Given the description of an element on the screen output the (x, y) to click on. 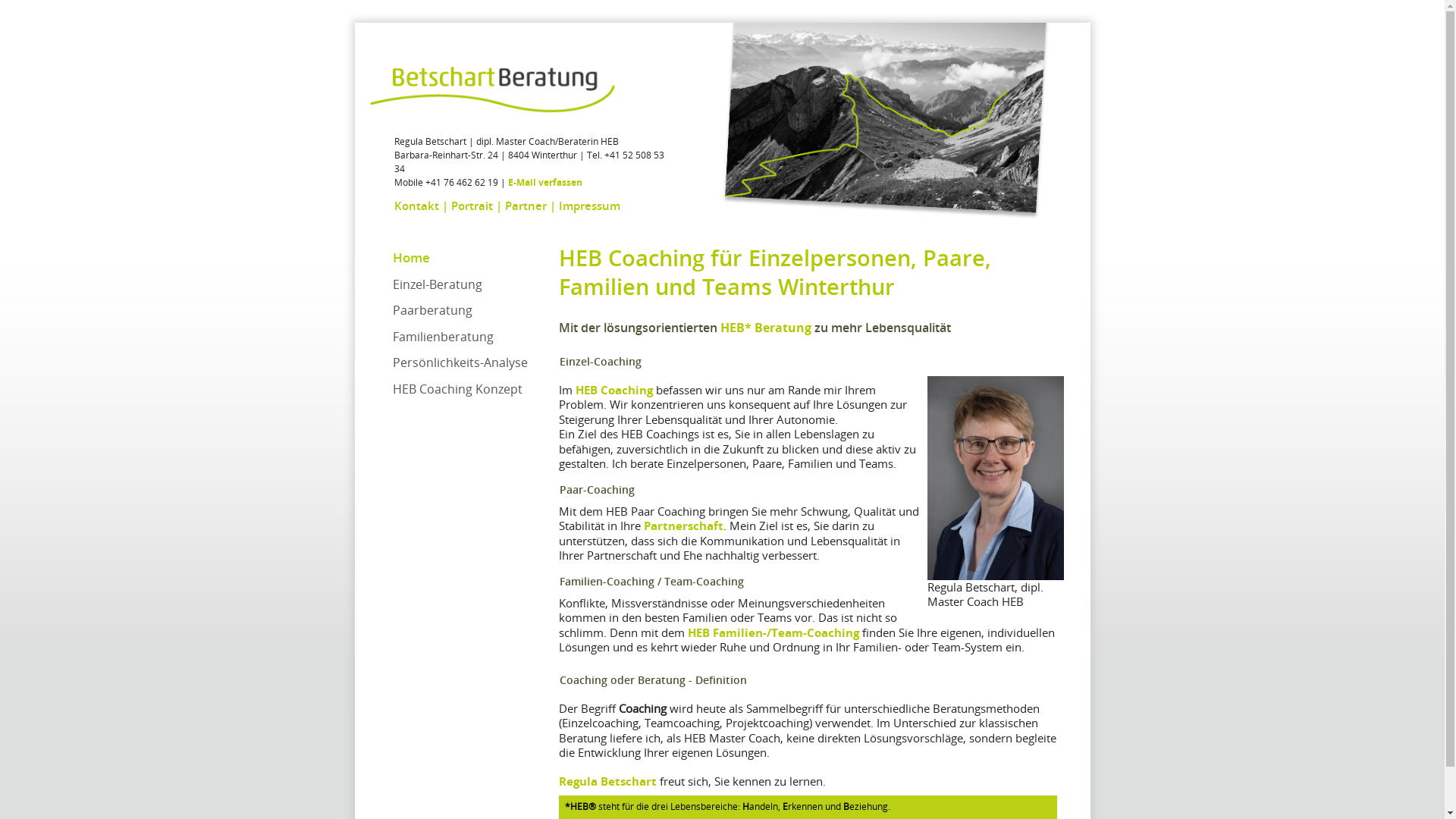
HEB Familien-/Team-Coaching Element type: text (773, 632)
Regula Betschart Element type: text (607, 780)
Familienberatung Element type: text (442, 335)
Portrait Element type: text (471, 205)
E-Mail verfassen Element type: text (545, 181)
Home Element type: text (410, 257)
Regula Betschart, dipl. Master Coach HEB Element type: hover (994, 478)
Paarberatung Element type: text (432, 309)
Einzel-Beratung Element type: text (437, 284)
Partnerschaft Element type: text (683, 525)
Impressum Element type: text (588, 205)
HEB Coaching Konzept Element type: text (457, 388)
Partner Element type: text (525, 205)
Kontakt Element type: text (416, 205)
Betschart Beratung Winterthur Element type: hover (492, 90)
HEB* Beratung Element type: text (765, 327)
Landschaft mit gruenem Faden - Betschart Beratung Element type: hover (875, 128)
HEB Coaching Element type: text (613, 389)
